Given the description of an element on the screen output the (x, y) to click on. 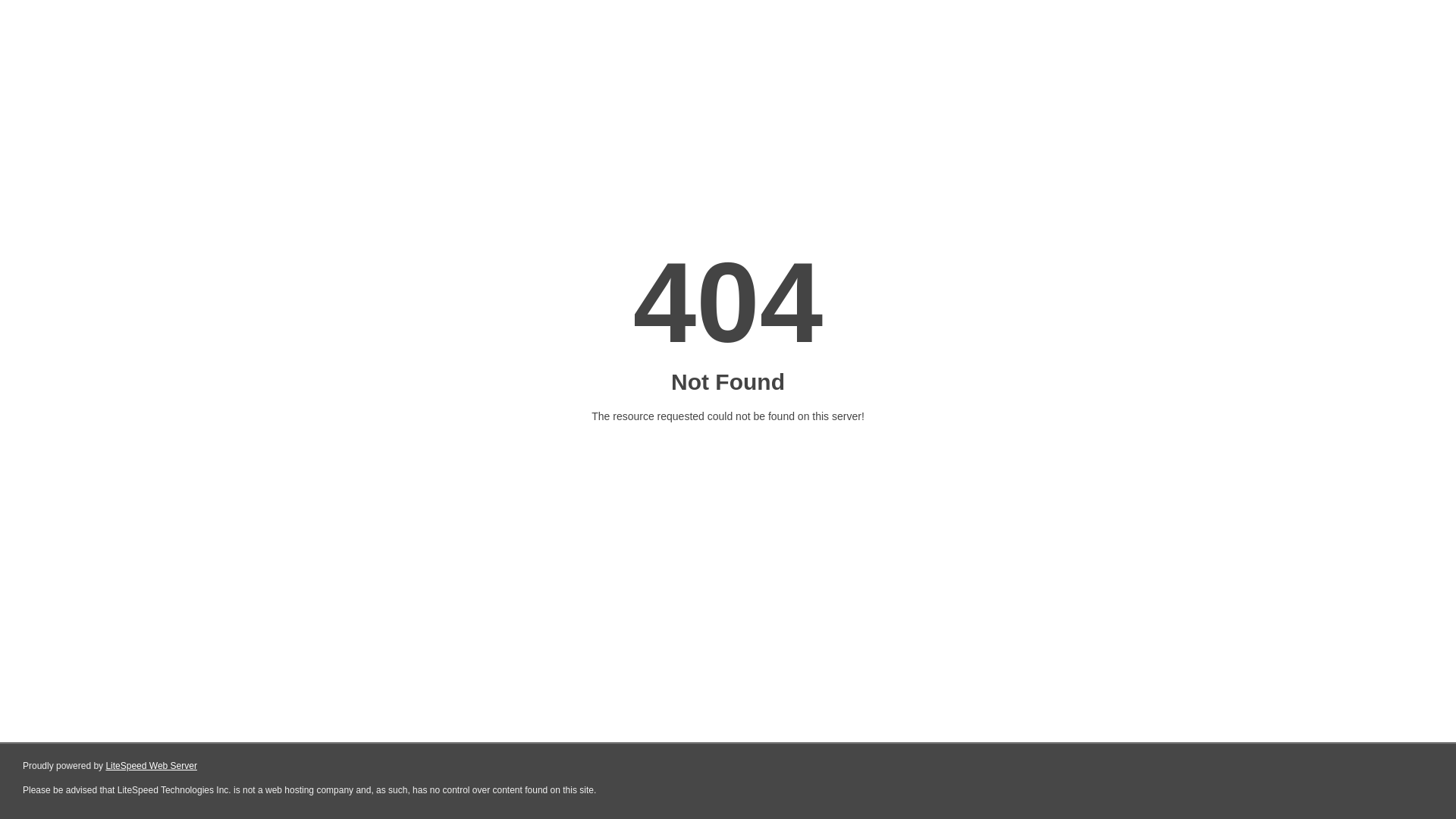
LiteSpeed Web Server Element type: text (151, 765)
